Given the description of an element on the screen output the (x, y) to click on. 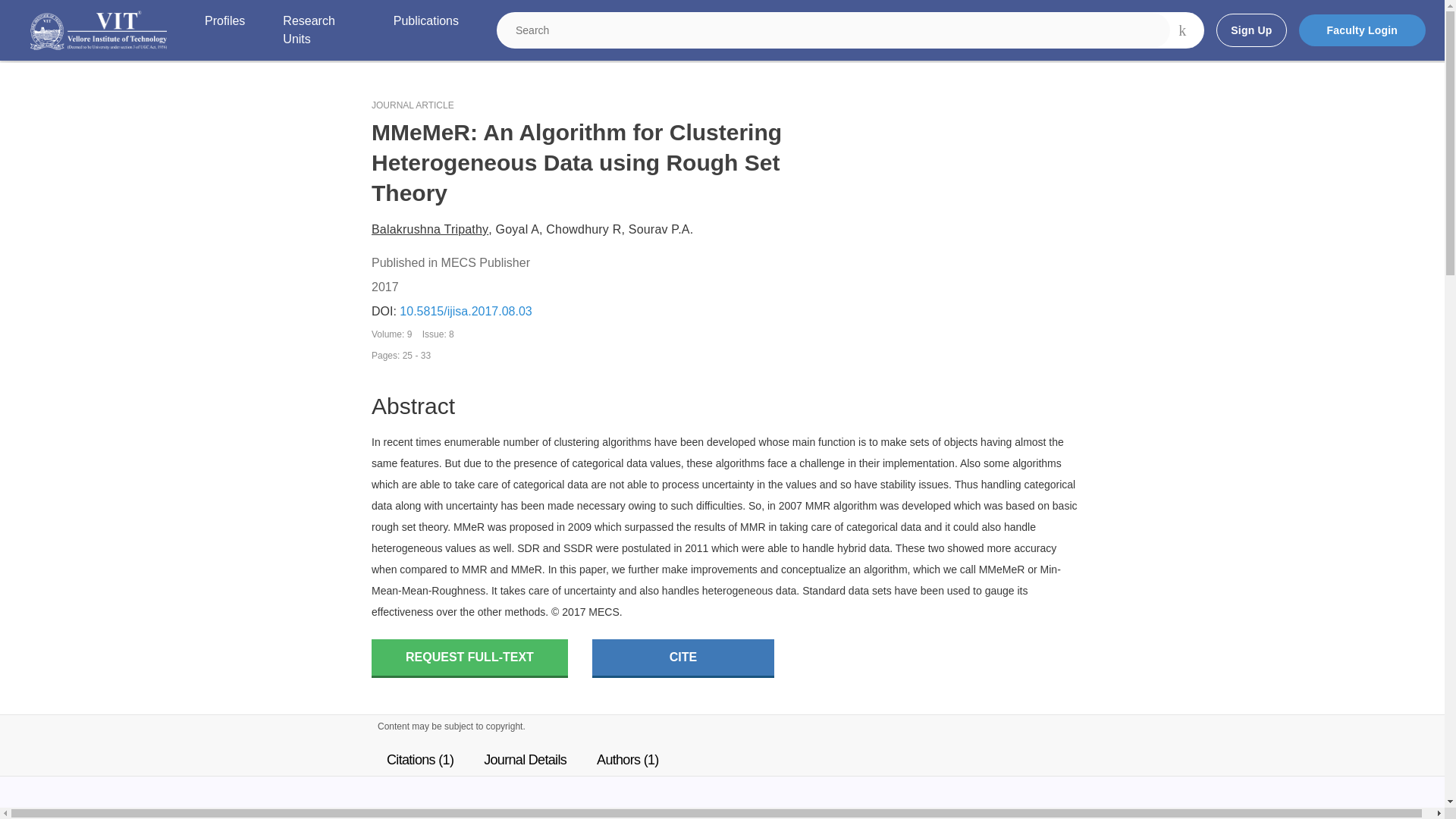
REQUEST FULL-TEXT (469, 658)
Institution logo (98, 30)
CITE (683, 658)
Journal Details (524, 759)
Faculty Login (1361, 29)
Research Units (318, 30)
Profiles (224, 30)
Balakrushna Tripathy (429, 228)
Publications (425, 30)
Sign Up (1250, 29)
